Given the description of an element on the screen output the (x, y) to click on. 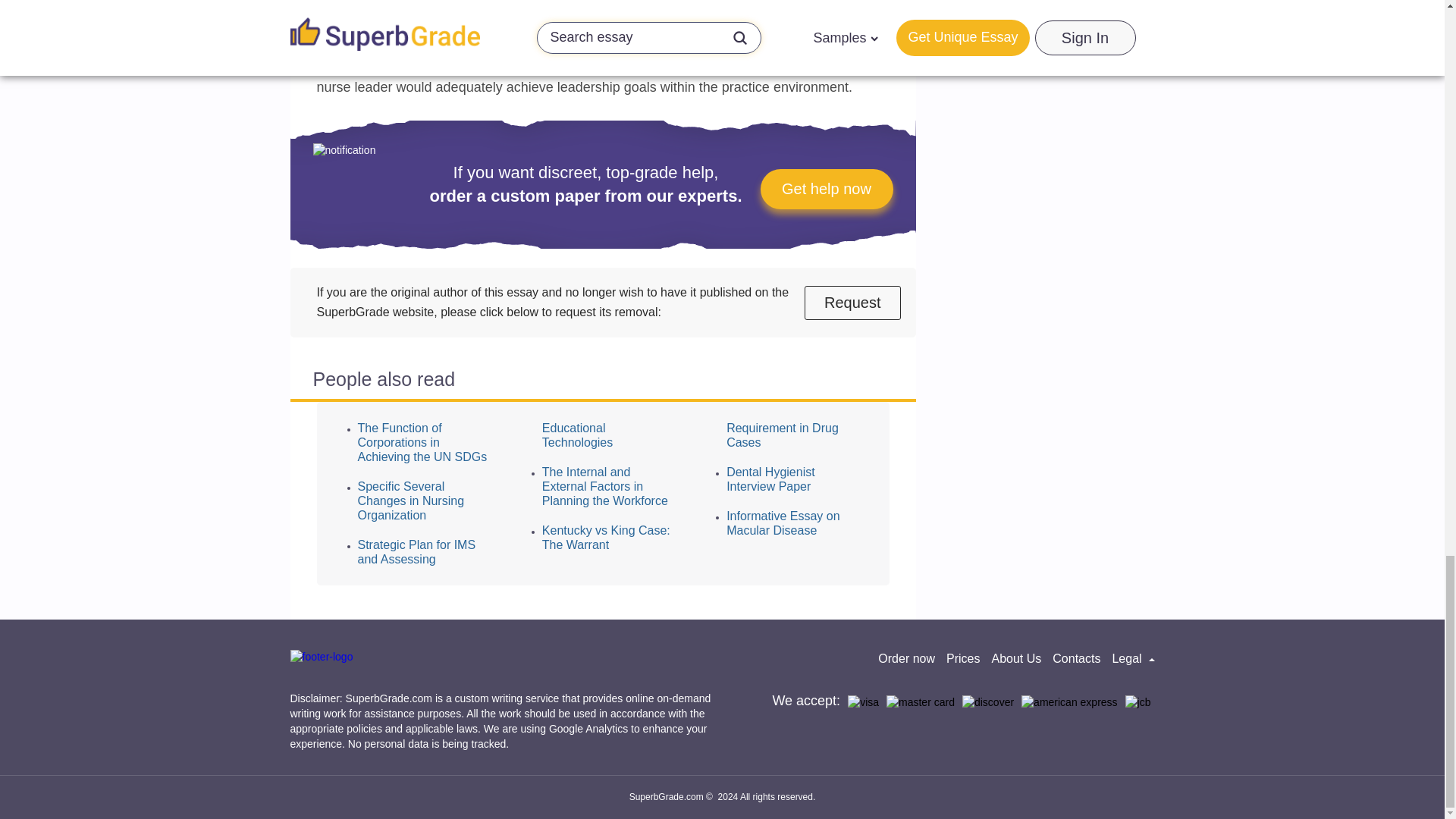
discover (987, 702)
master card (920, 702)
jcb (1138, 702)
american express (1070, 702)
visa (863, 702)
